Given the description of an element on the screen output the (x, y) to click on. 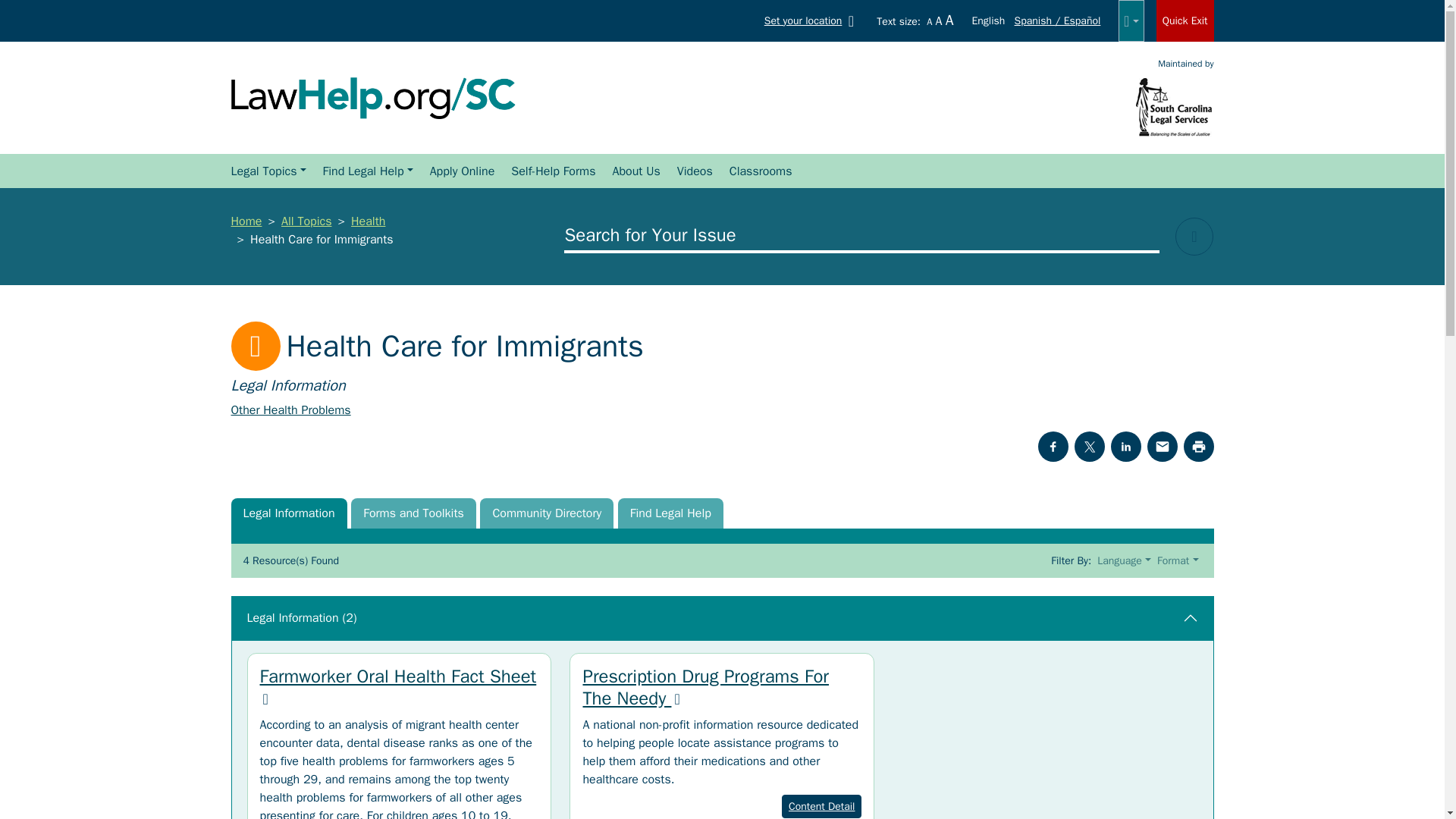
Community Directory (546, 512)
Set your location (812, 20)
Legal Topics (267, 171)
Set your location (812, 20)
Forms and Toolkits (413, 512)
Legal Information (288, 512)
South Carolina Legal Services (1174, 106)
Quick Exit (1184, 20)
